Given the description of an element on the screen output the (x, y) to click on. 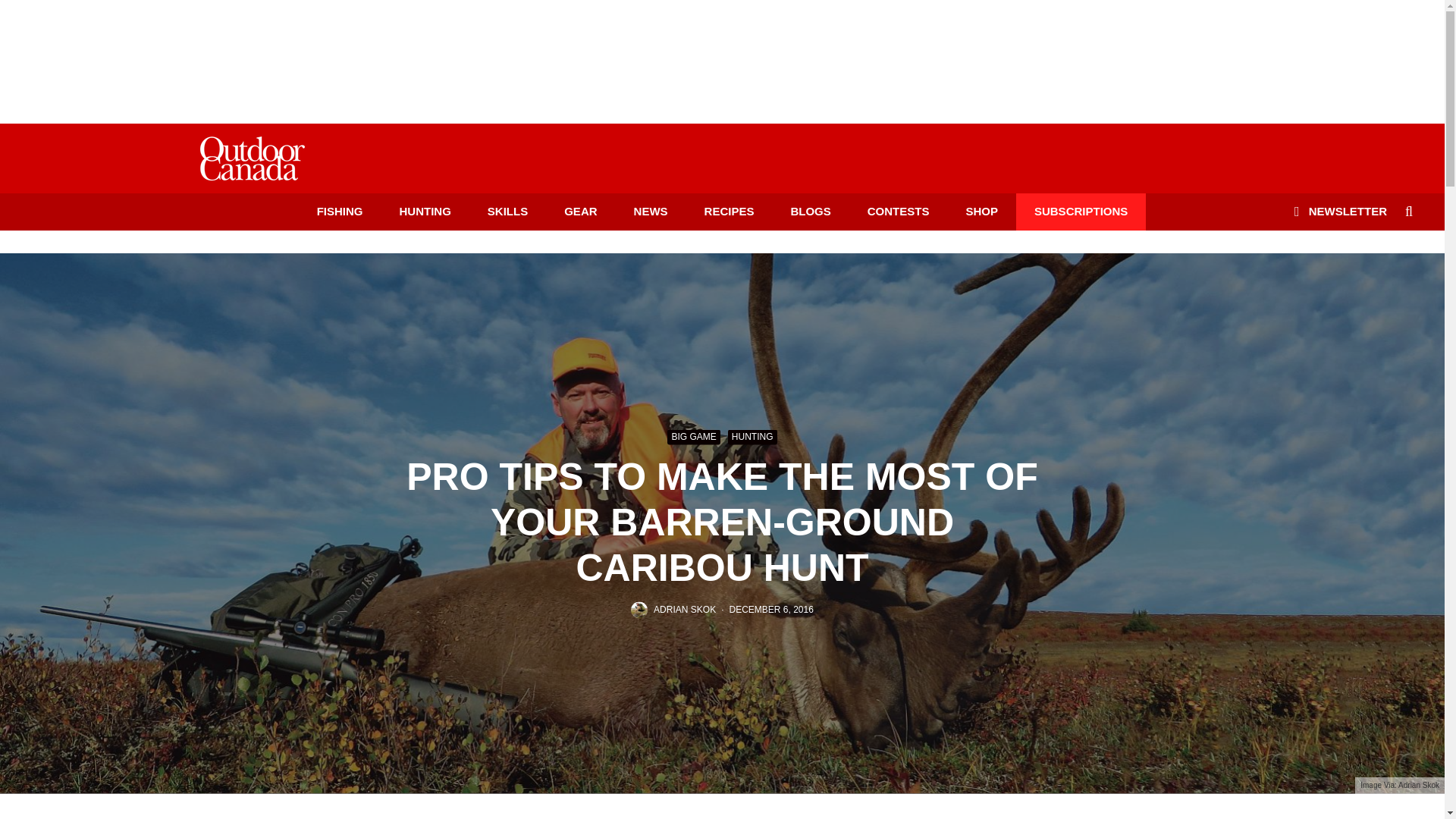
CONTESTS (897, 211)
RECIPES (729, 211)
BLOGS (809, 211)
3rd party ad content (721, 51)
SKILLS (507, 211)
GEAR (580, 211)
NEWS (650, 211)
FISHING (339, 211)
HUNTING (424, 211)
